Given the description of an element on the screen output the (x, y) to click on. 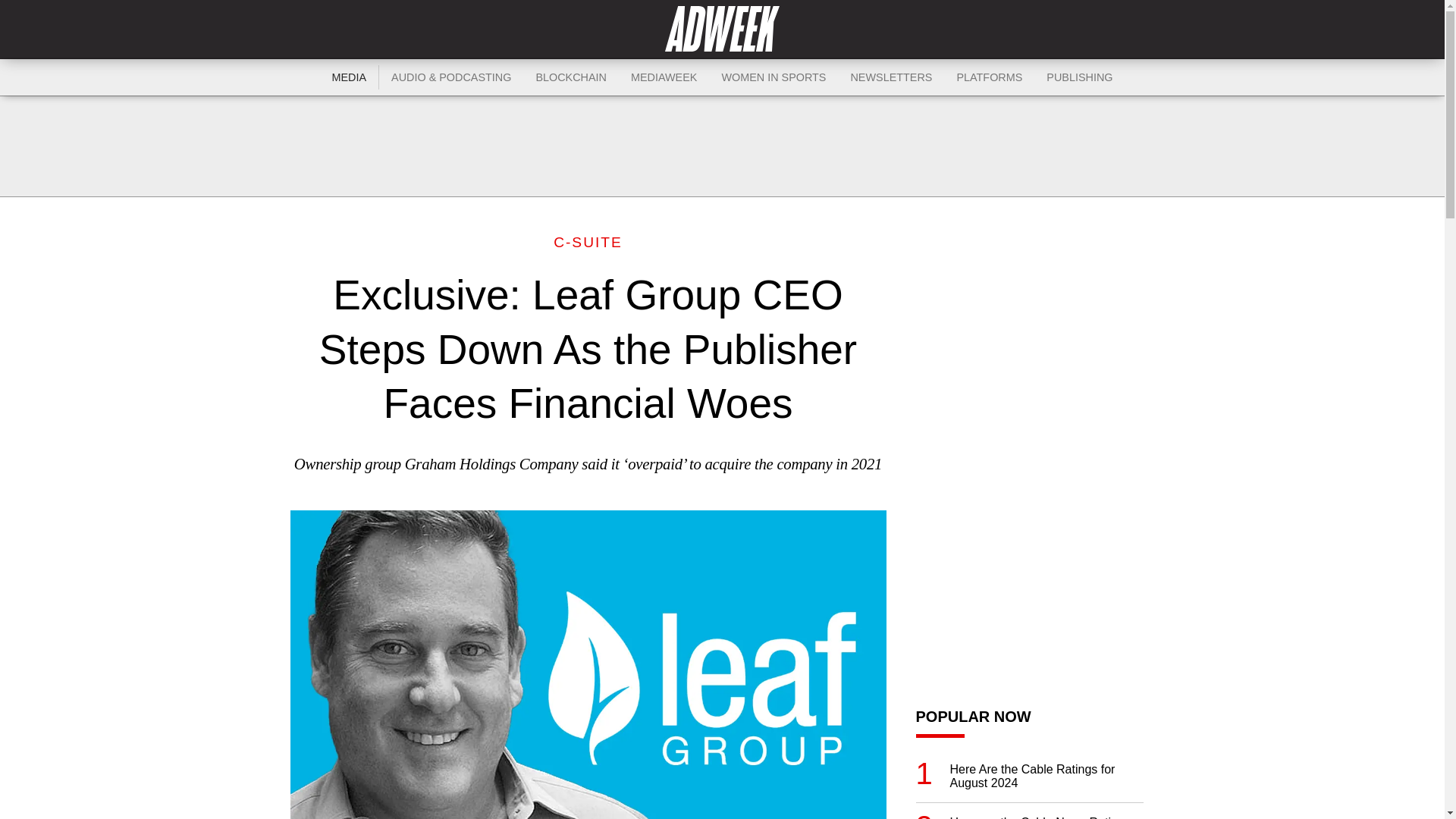
PUBLISHING (1078, 77)
Here are the Cable News Ratings for April 2024 (1045, 817)
PLATFORMS (988, 77)
Here Are the Cable Ratings for August 2024 (1045, 776)
MEDIAWEEK (663, 77)
MEDIA (350, 77)
WOMEN IN SPORTS (773, 77)
C-SUITE (588, 242)
NEWSLETTERS (890, 77)
BLOCKCHAIN (570, 77)
